Given the description of an element on the screen output the (x, y) to click on. 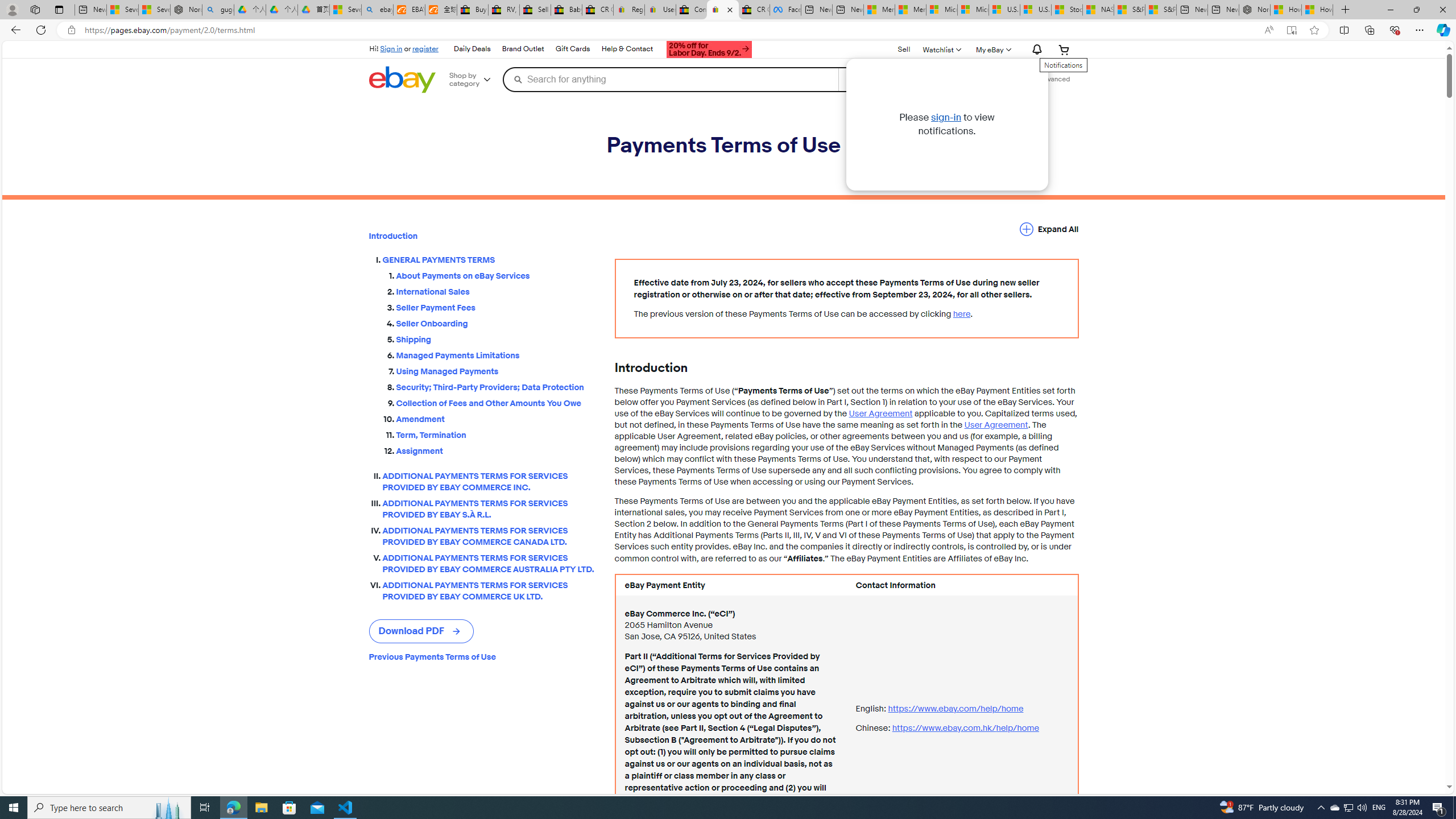
Download PDF  (421, 631)
WatchlistExpand Watch List (940, 49)
Seller Onboarding (496, 323)
Collection of Fees and Other Amounts You Owe (496, 403)
Search for anything (670, 78)
Daily Deals (471, 49)
ebay - Search (376, 9)
